Given the description of an element on the screen output the (x, y) to click on. 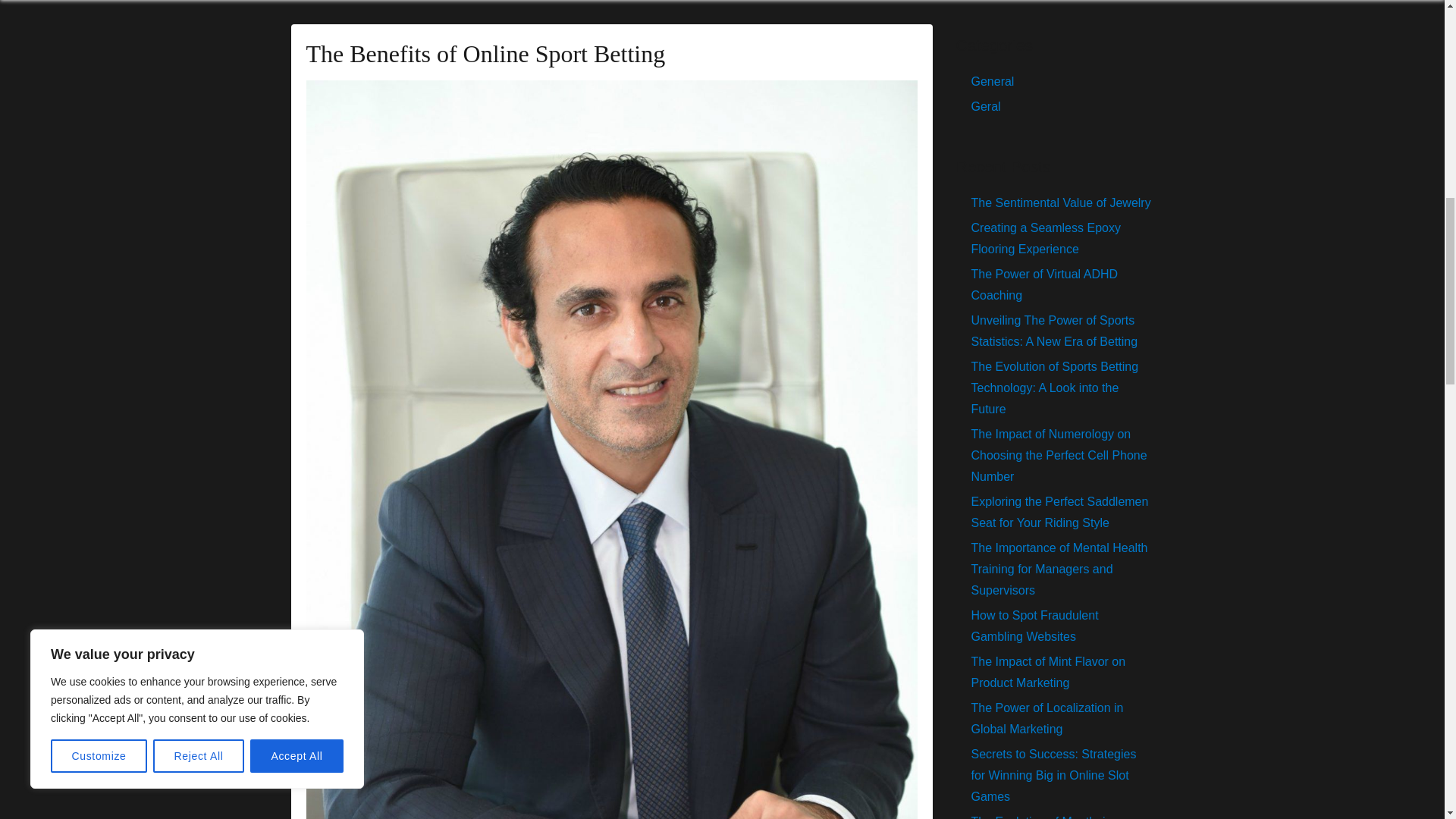
The Power of Virtual ADHD Coaching (1044, 284)
Creating a Seamless Epoxy Flooring Experience (1045, 238)
General (992, 81)
The Sentimental Value of Jewelry (1060, 202)
Geral (985, 106)
